Given the description of an element on the screen output the (x, y) to click on. 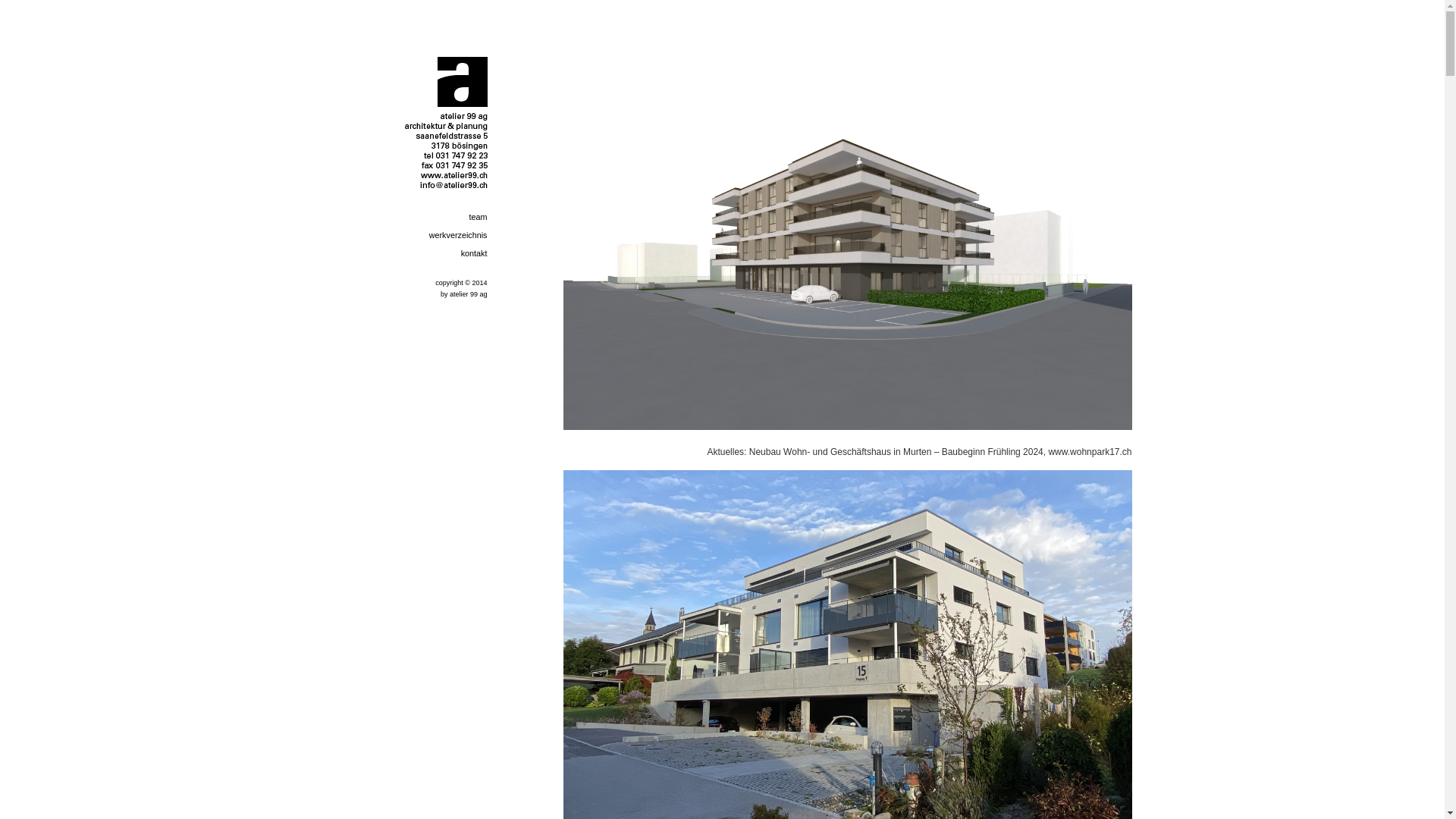
kontakt Element type: text (444, 253)
werkverzeichnis Element type: text (444, 234)
team Element type: text (444, 216)
